Given the description of an element on the screen output the (x, y) to click on. 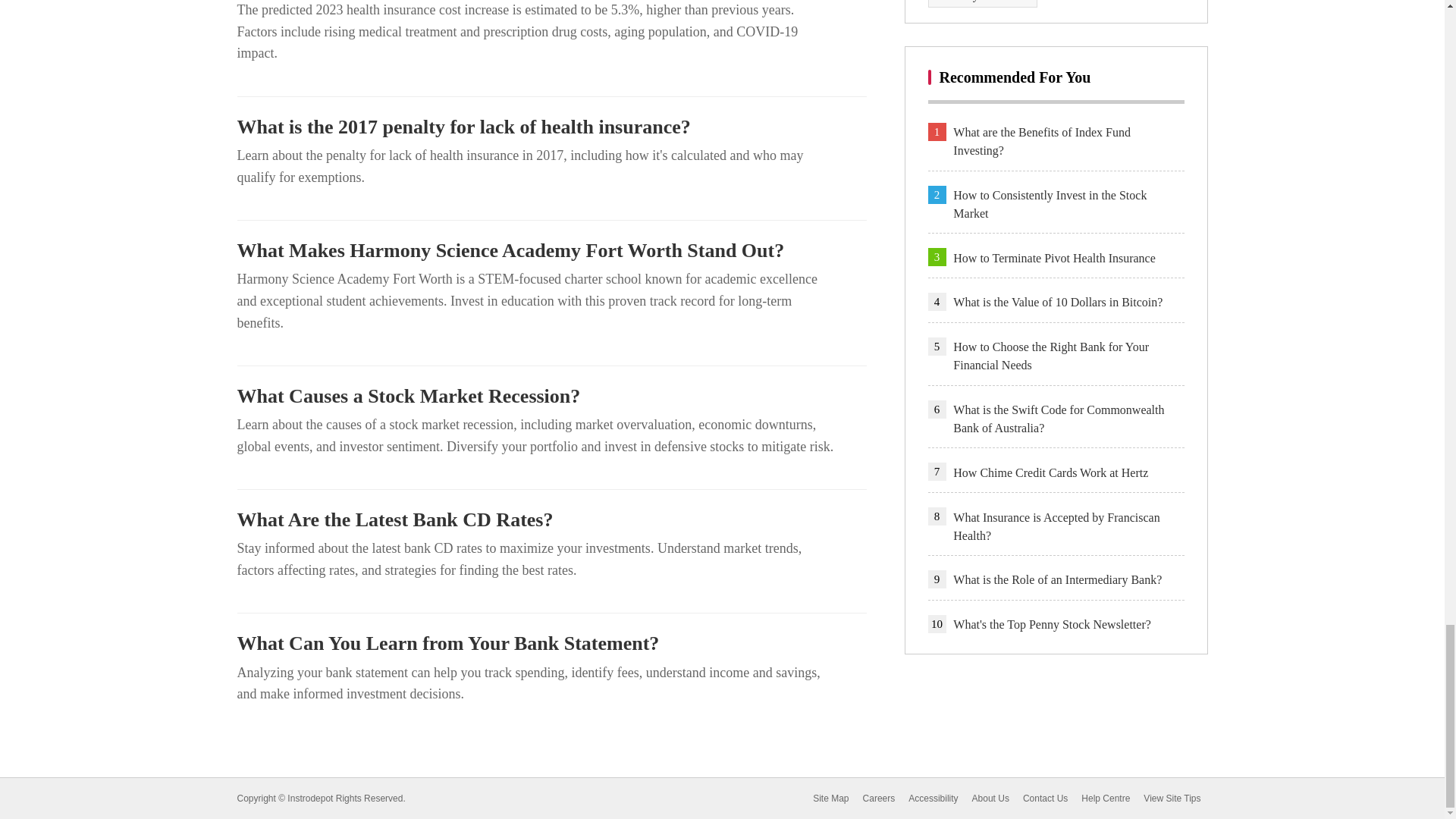
What Makes Harmony Science Academy Fort Worth Stand Out? (550, 250)
What Causes a Stock Market Recession? (550, 395)
What Makes Harmony Science Academy Fort Worth Stand Out? (550, 250)
What Can You Learn from Your Bank Statement? (550, 643)
What Are the Latest Bank CD Rates? (550, 519)
What is the 2017 penalty for lack of health insurance? (550, 127)
What is the 2017 penalty for lack of health insurance? (550, 127)
